Given the description of an element on the screen output the (x, y) to click on. 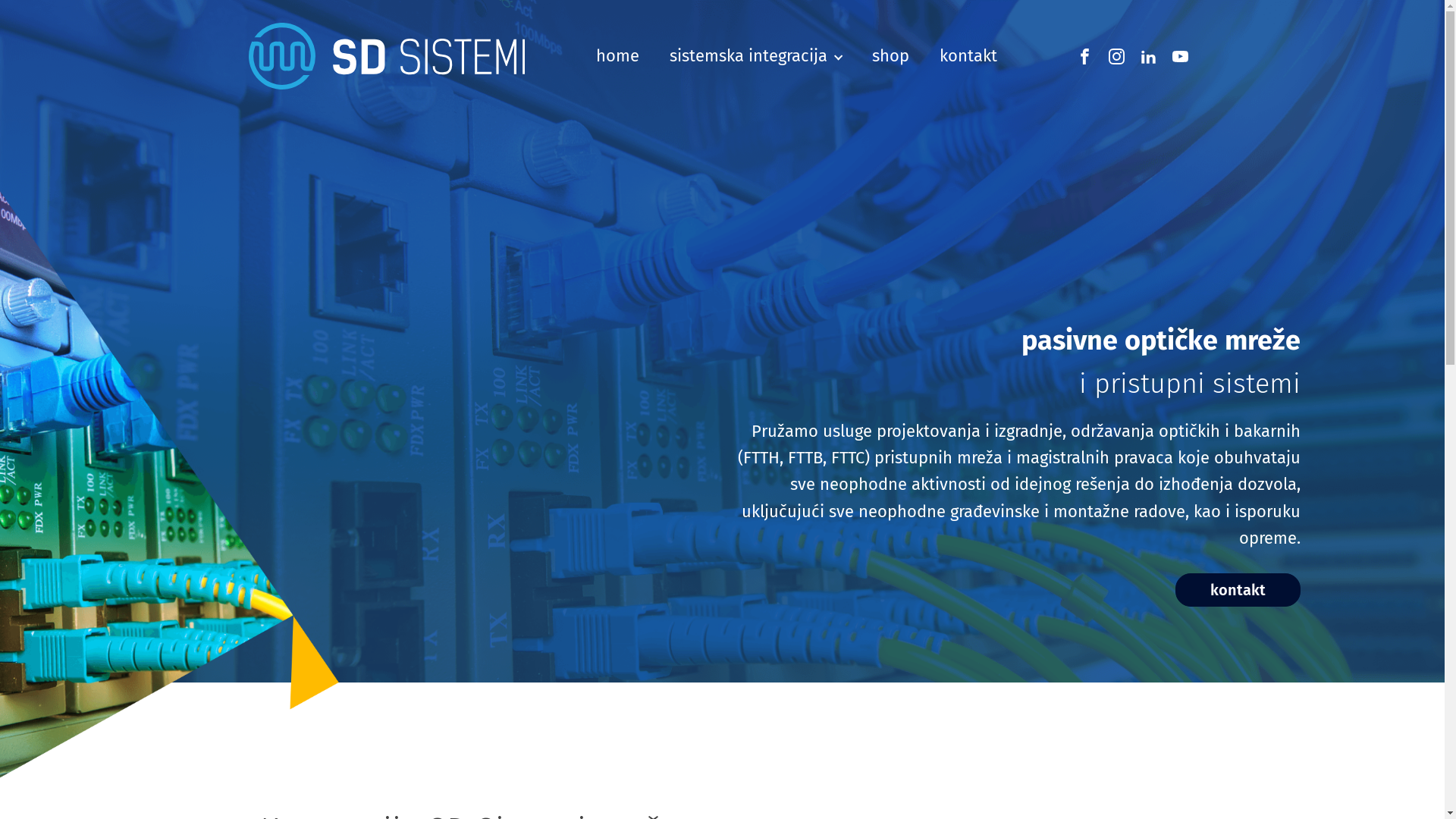
shop Element type: text (890, 55)
home Element type: text (617, 55)
kontakt Element type: text (968, 55)
kontakt Element type: text (1237, 589)
sistemska integracija Element type: text (755, 55)
